Given the description of an element on the screen output the (x, y) to click on. 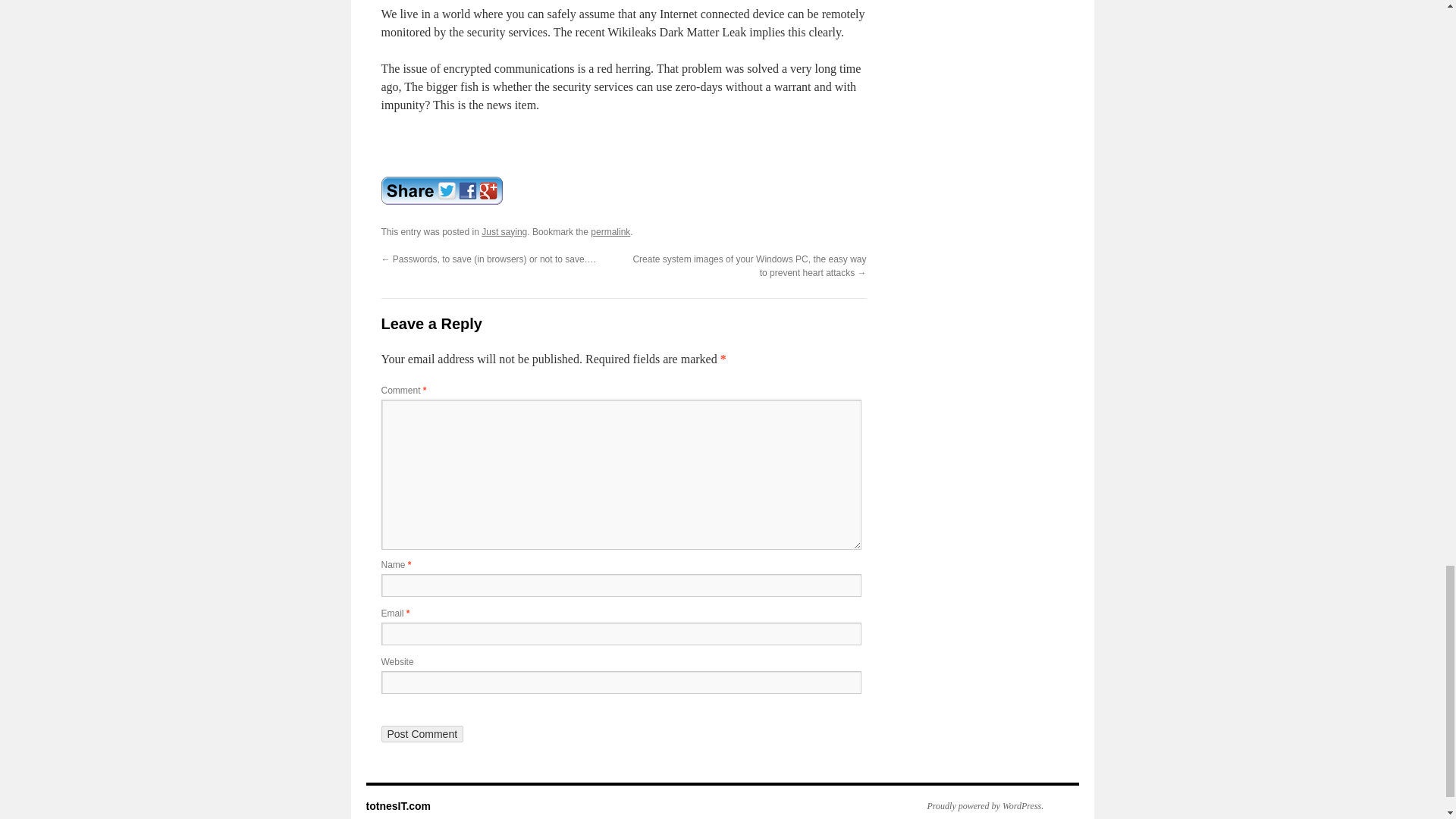
Just saying (504, 231)
permalink (610, 231)
Post Comment (421, 733)
Post Comment (421, 733)
Semantic Personal Publishing Platform (977, 806)
